Given the description of an element on the screen output the (x, y) to click on. 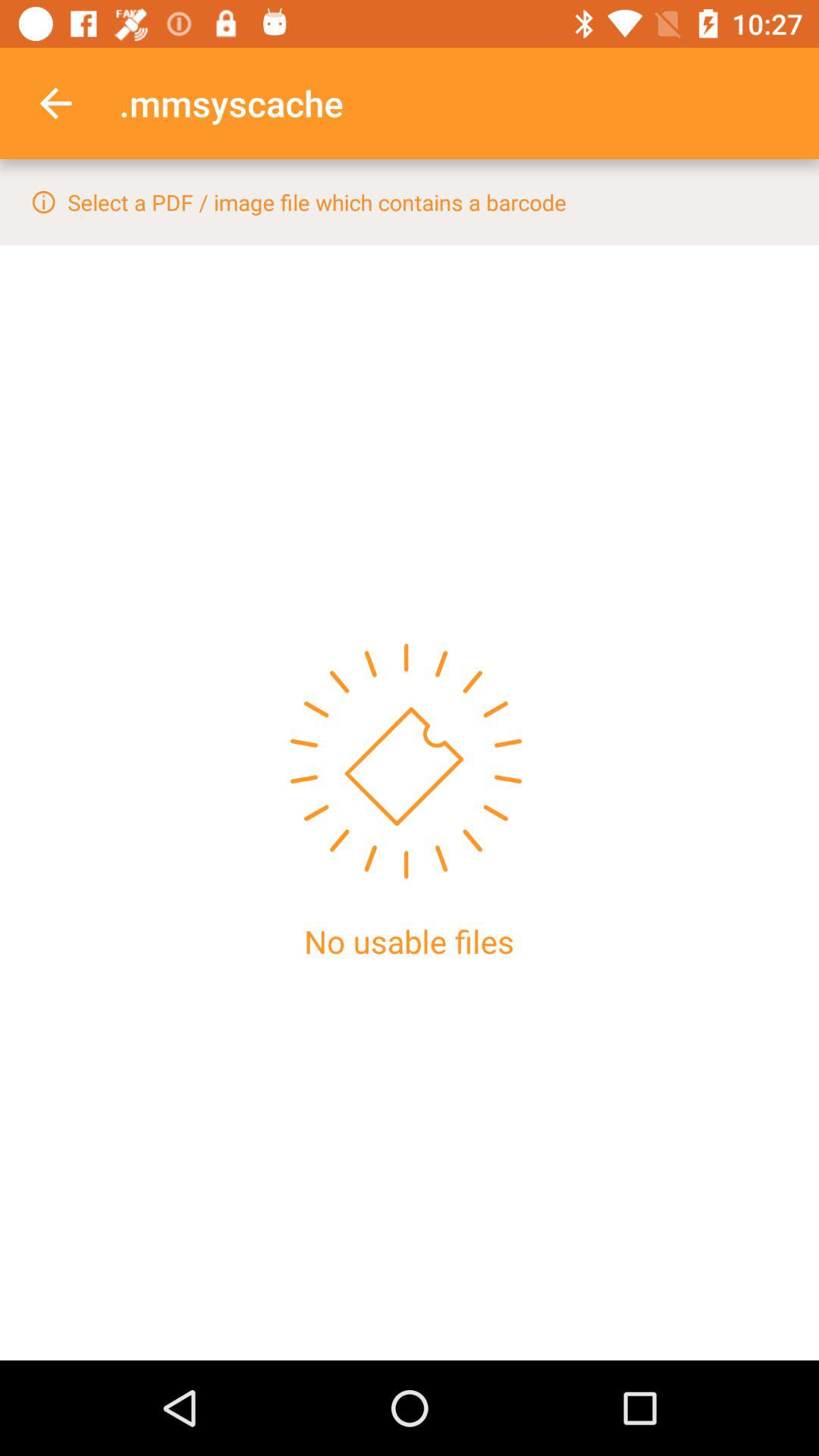
select the icon which is left side of the select a pdf  image file which contains a barcode (43, 202)
